Given the description of an element on the screen output the (x, y) to click on. 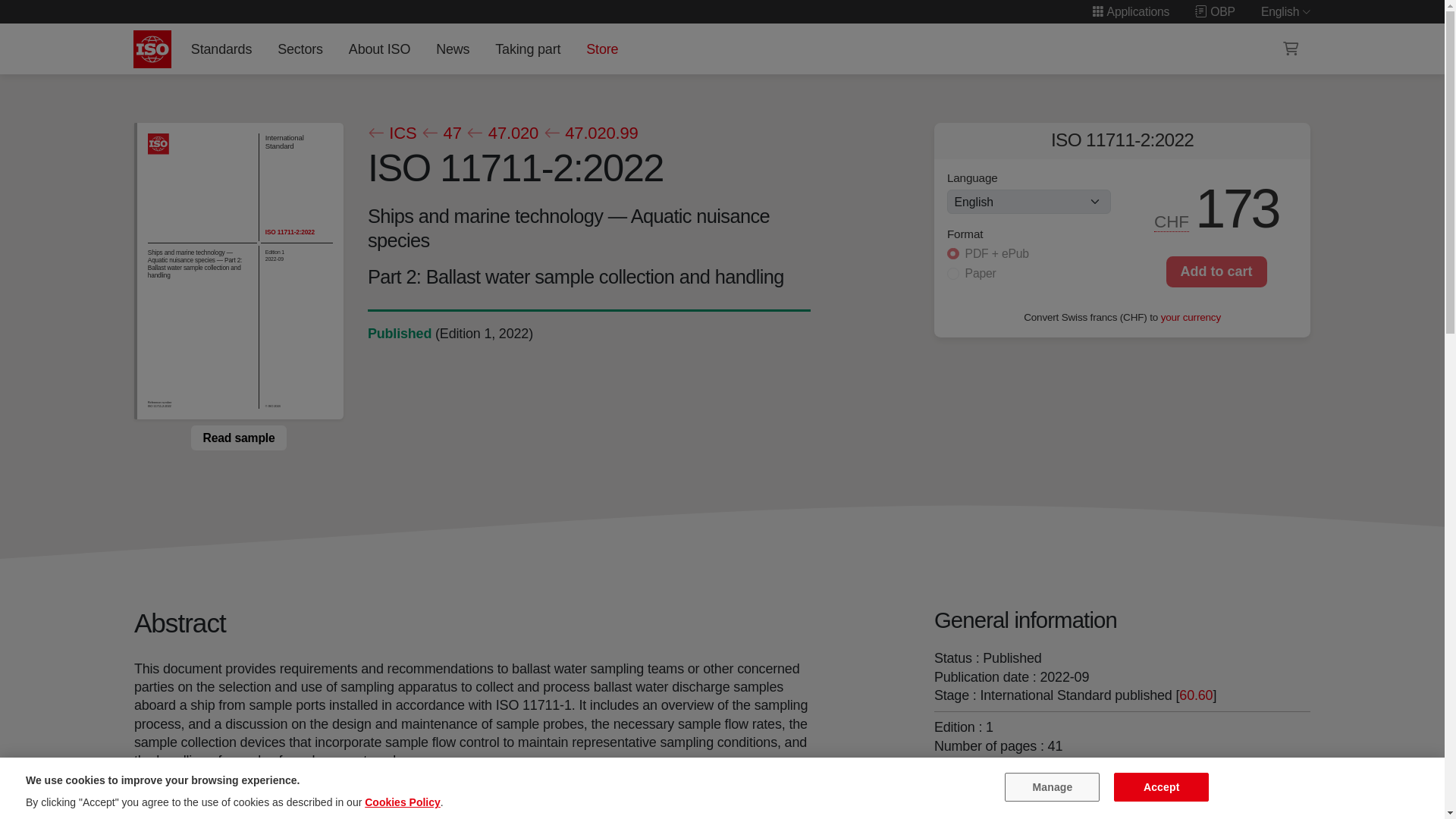
47 (441, 133)
Sectors (300, 48)
Shopping cart (1290, 49)
Standards (220, 48)
English (1285, 11)
Taking part (528, 48)
Ships and marine technology (1096, 777)
ICS (391, 133)
Life cycle (398, 333)
Store (601, 48)
Swiss francs (1171, 221)
Online Browsing Platform (1214, 11)
News (452, 48)
